Given the description of an element on the screen output the (x, y) to click on. 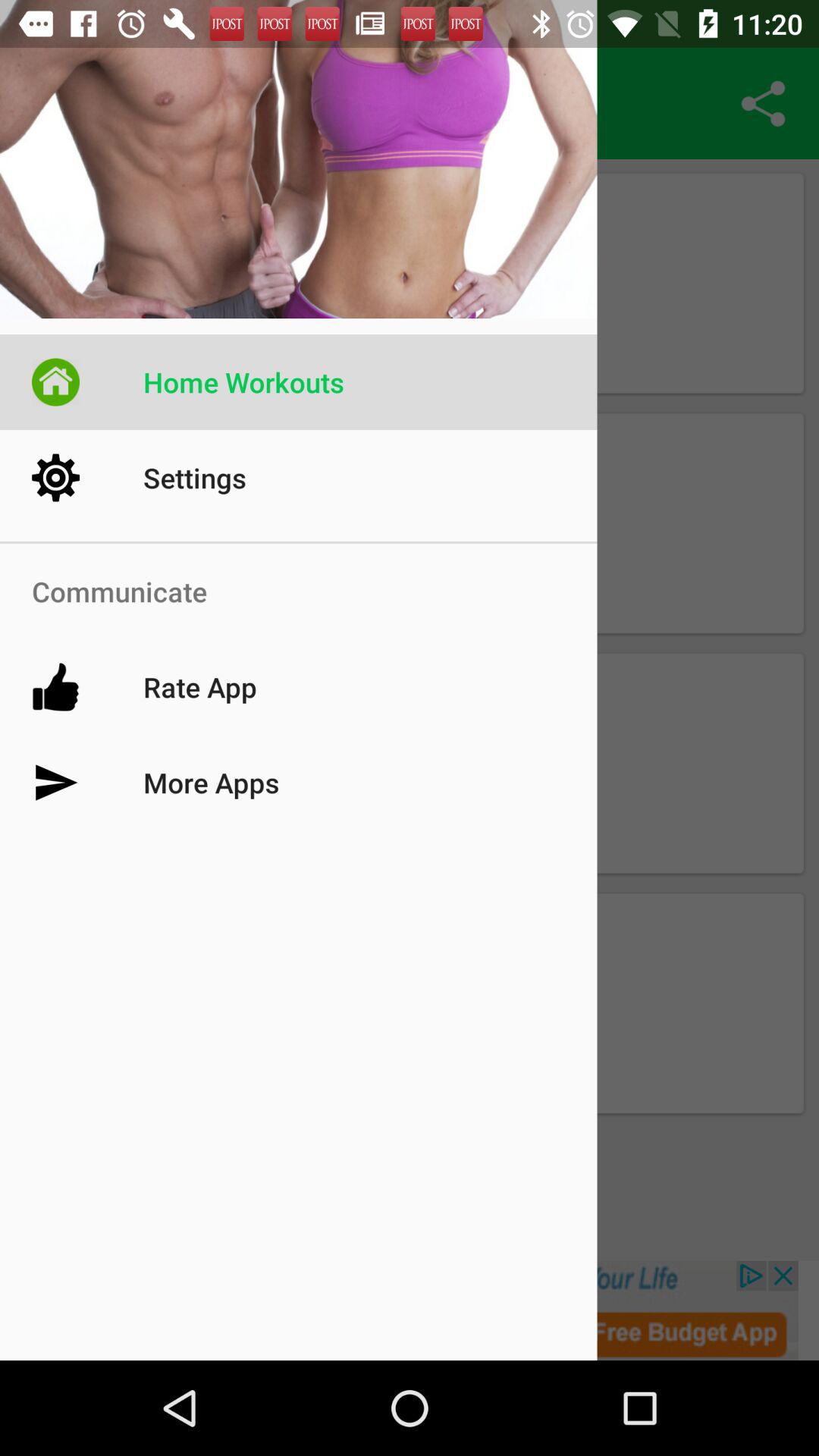
click on the share option (763, 103)
